Given the description of an element on the screen output the (x, y) to click on. 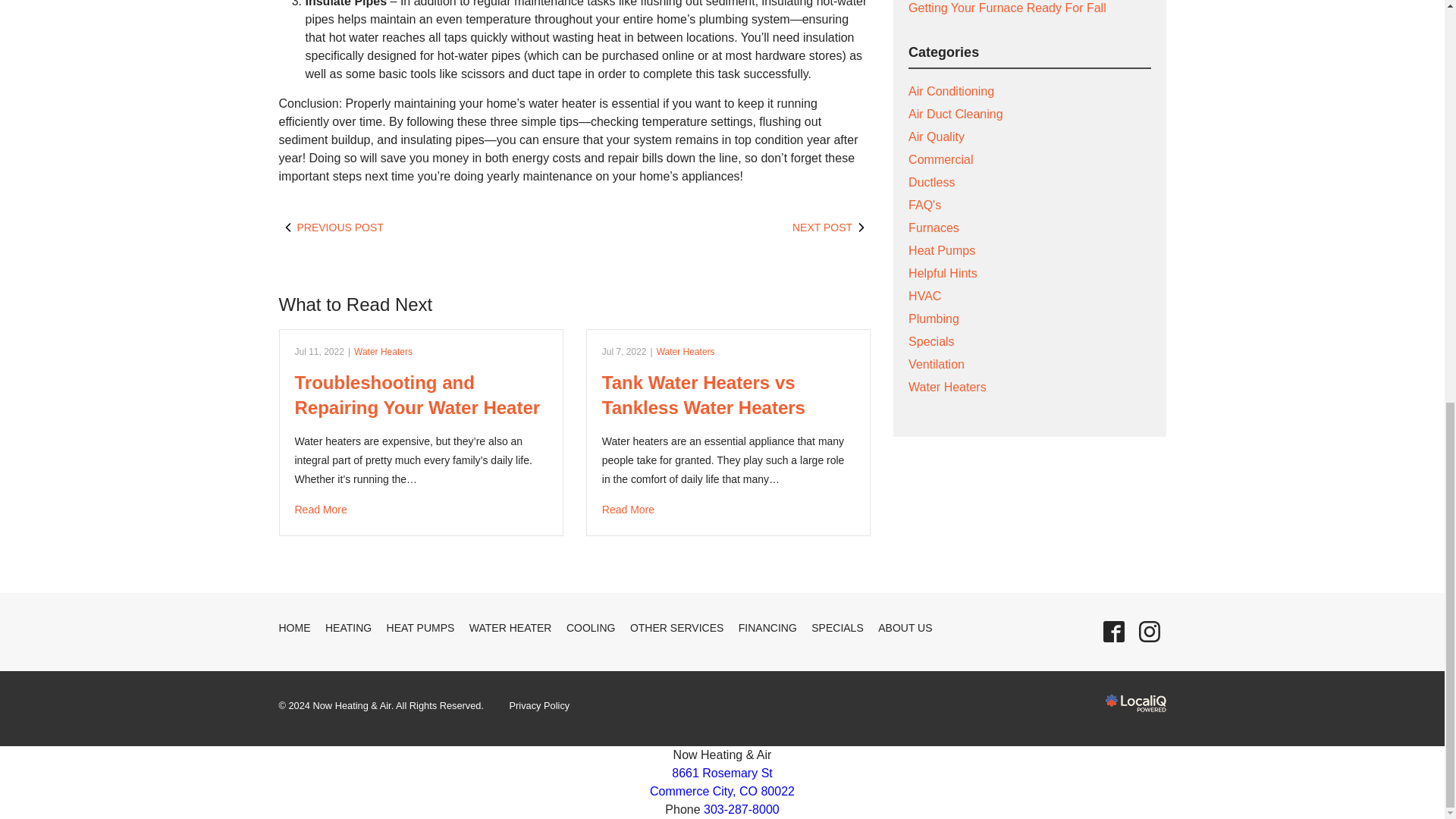
Troubleshooting and Repairing Your Water Heater (420, 509)
instagram (1149, 631)
Tank Water Heaters vs Tankless Water Heaters (728, 509)
facebook (1113, 631)
